Given the description of an element on the screen output the (x, y) to click on. 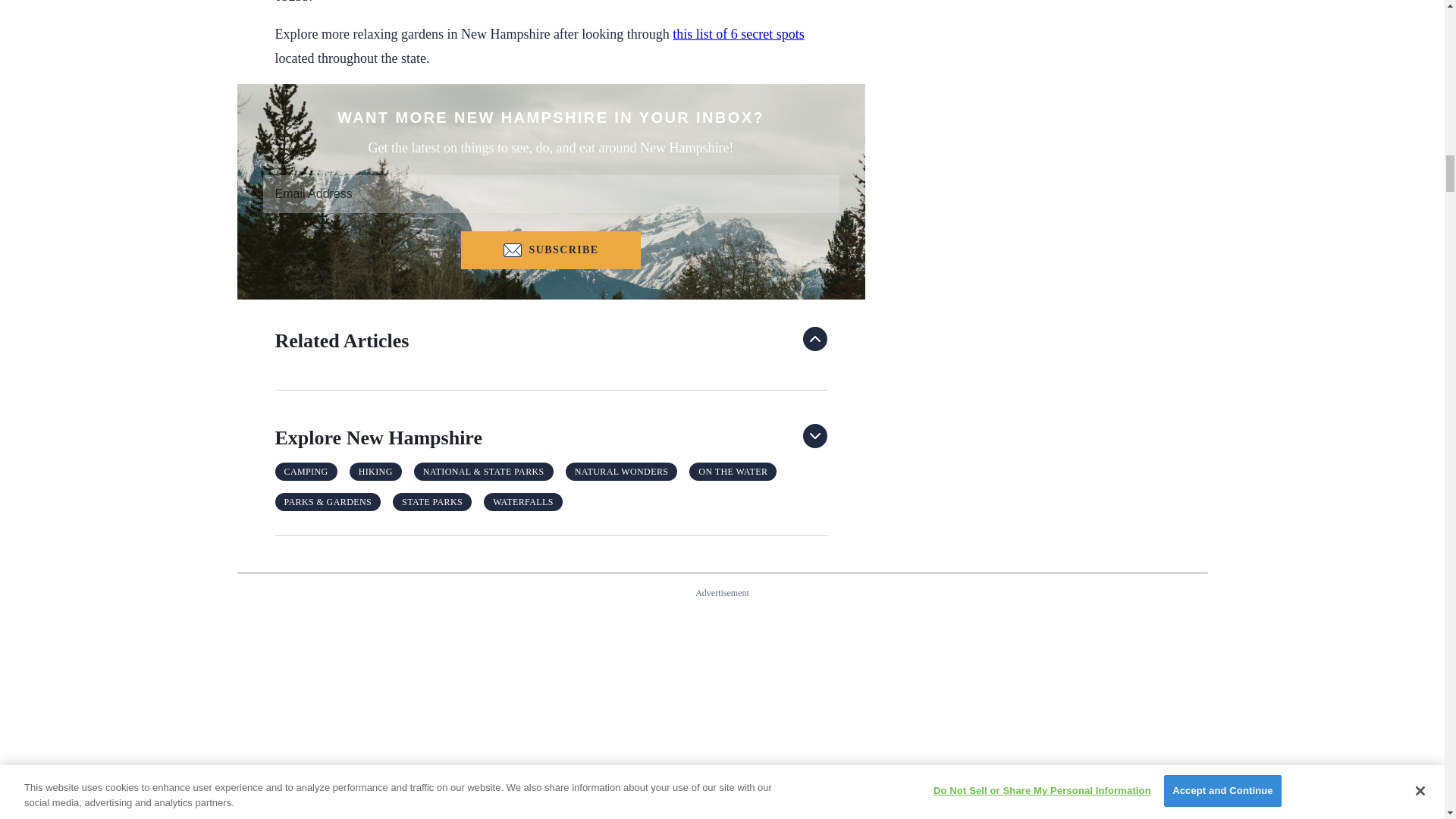
Natural Wonders (621, 471)
Waterfalls (523, 502)
State Parks (432, 502)
Hiking (375, 471)
Camping (305, 471)
On the Water (732, 471)
